Given the description of an element on the screen output the (x, y) to click on. 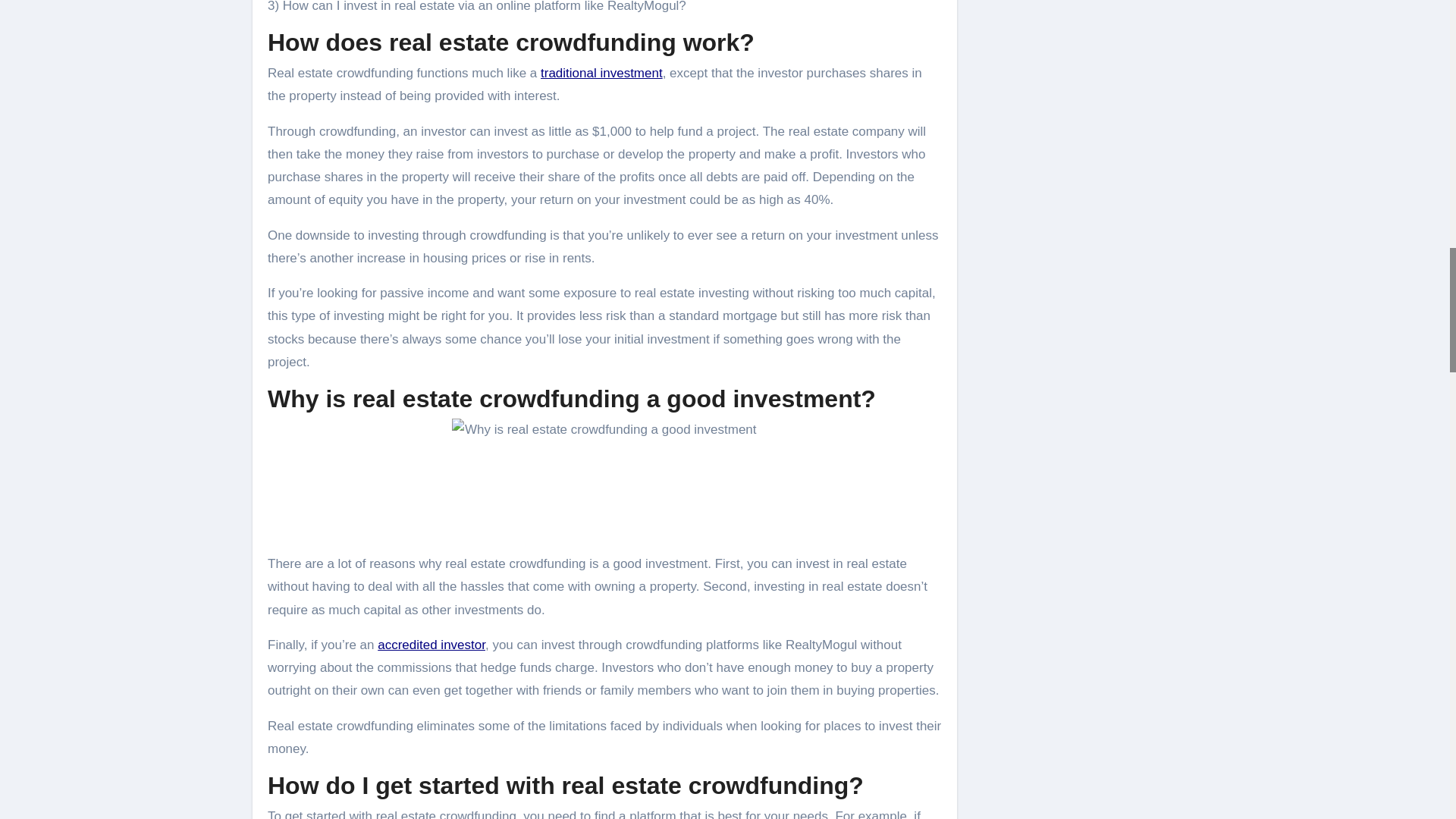
accredited investor (430, 644)
traditional investment (601, 73)
